Given the description of an element on the screen output the (x, y) to click on. 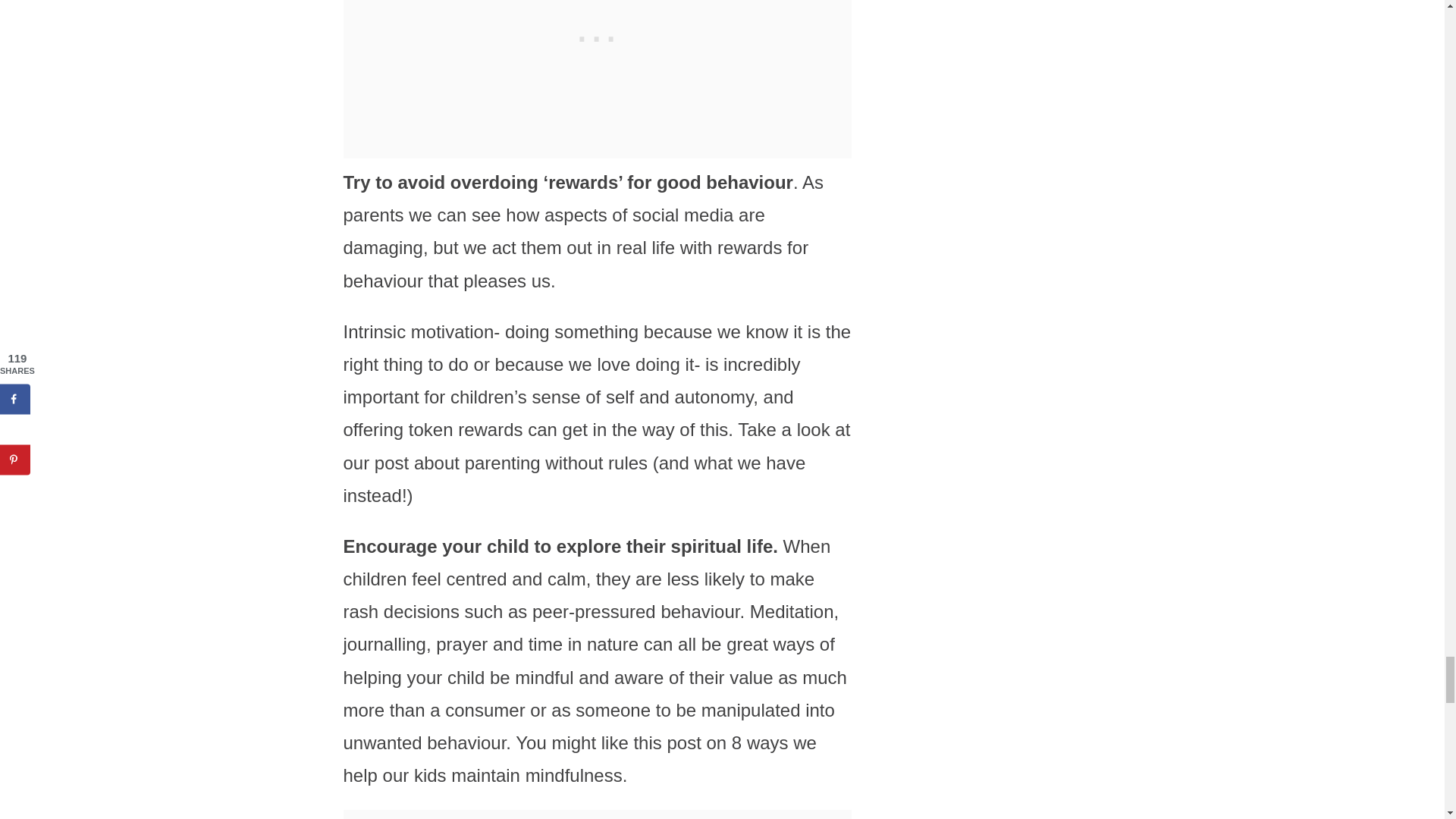
parenting without rules (555, 462)
8 ways we help our kids maintain mindfulness (578, 758)
